Given the description of an element on the screen output the (x, y) to click on. 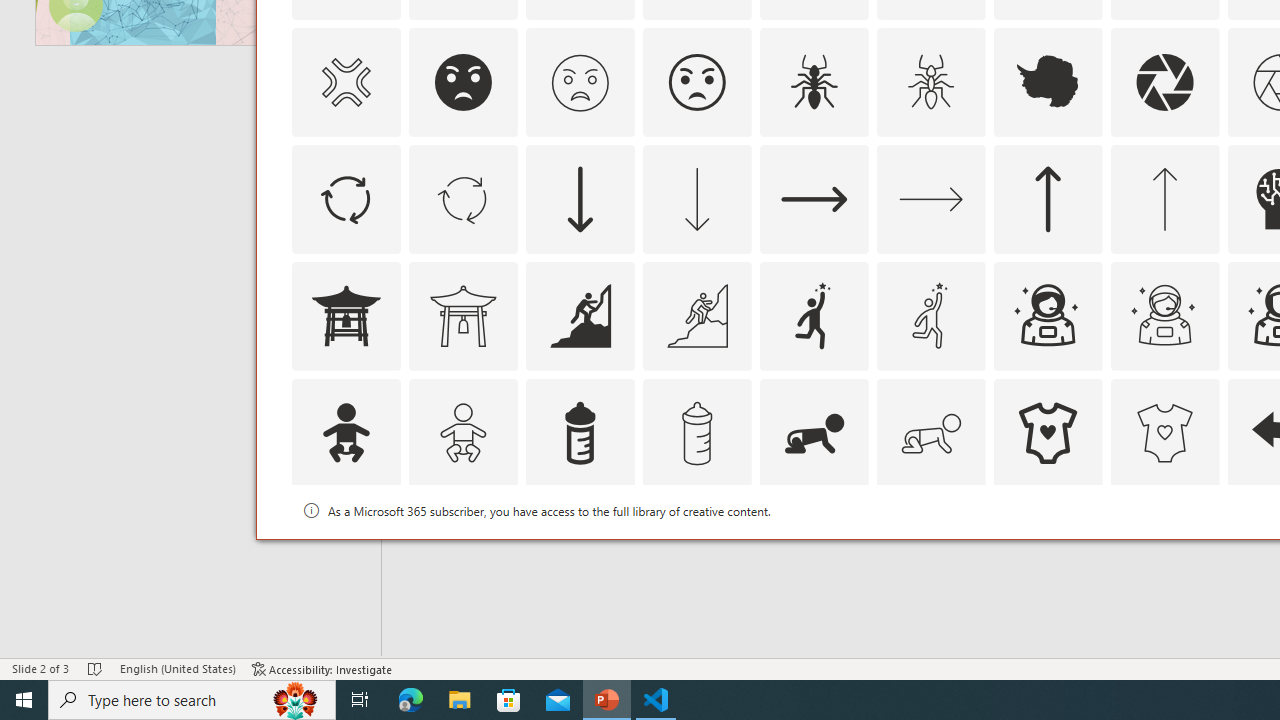
AutomationID: Icons_Aperture (1164, 82)
AutomationID: Icons_BabyCrawling_M (930, 432)
AutomationID: Icons_BabyBottle_M (696, 432)
AutomationID: Icons_AsianTemple1 (345, 316)
AutomationID: Icons_Antarctica (1048, 82)
